Given the description of an element on the screen output the (x, y) to click on. 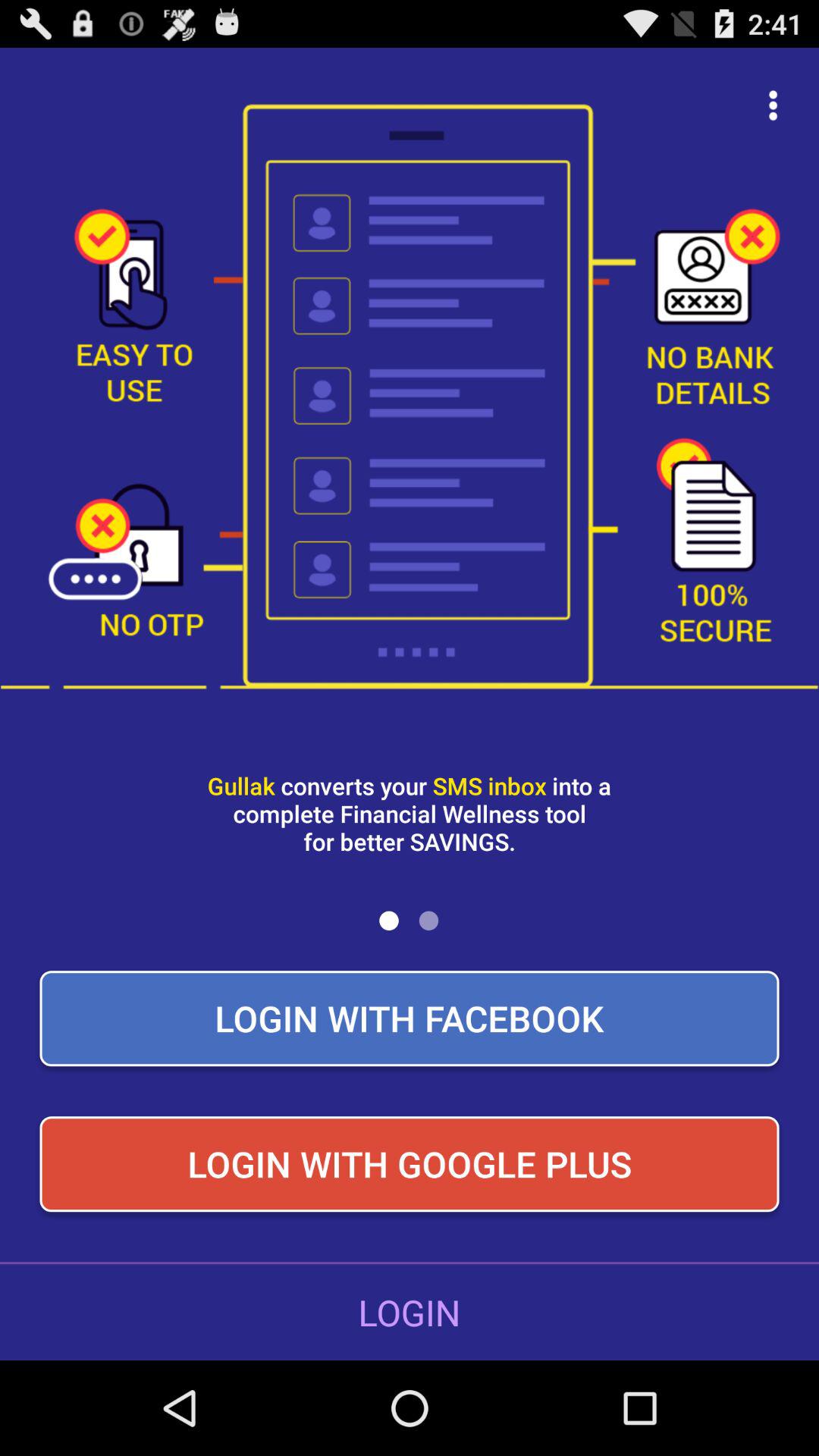
tap the icon above gullak converts your app (773, 105)
